Given the description of an element on the screen output the (x, y) to click on. 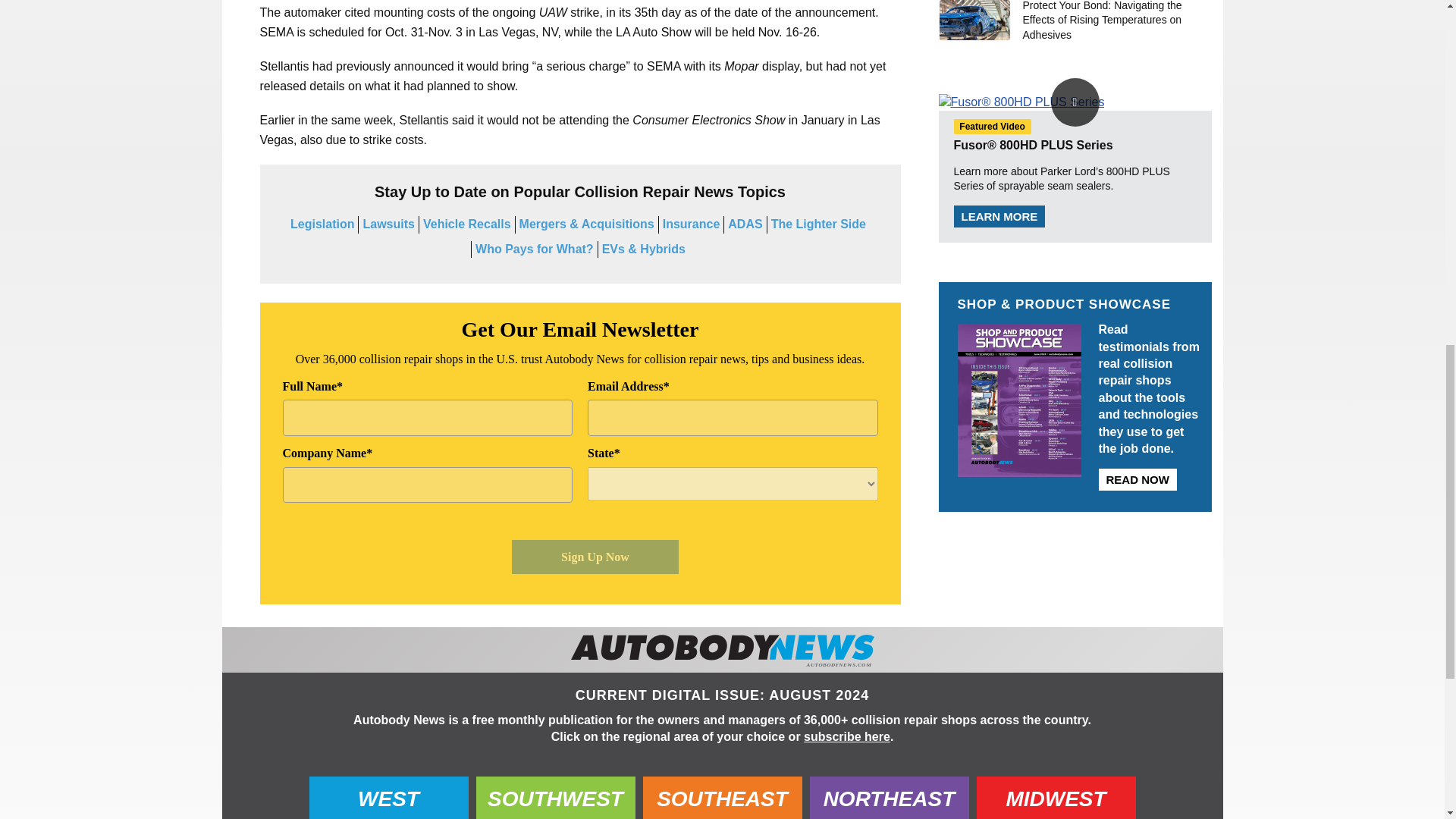
Who Pays for What? (535, 248)
Legislation (321, 223)
The Lighter Side (818, 223)
Insurance (691, 223)
Vehicle Recalls (467, 223)
Watch Now (1075, 101)
ADAS (744, 223)
Lawsuits (387, 223)
